Given the description of an element on the screen output the (x, y) to click on. 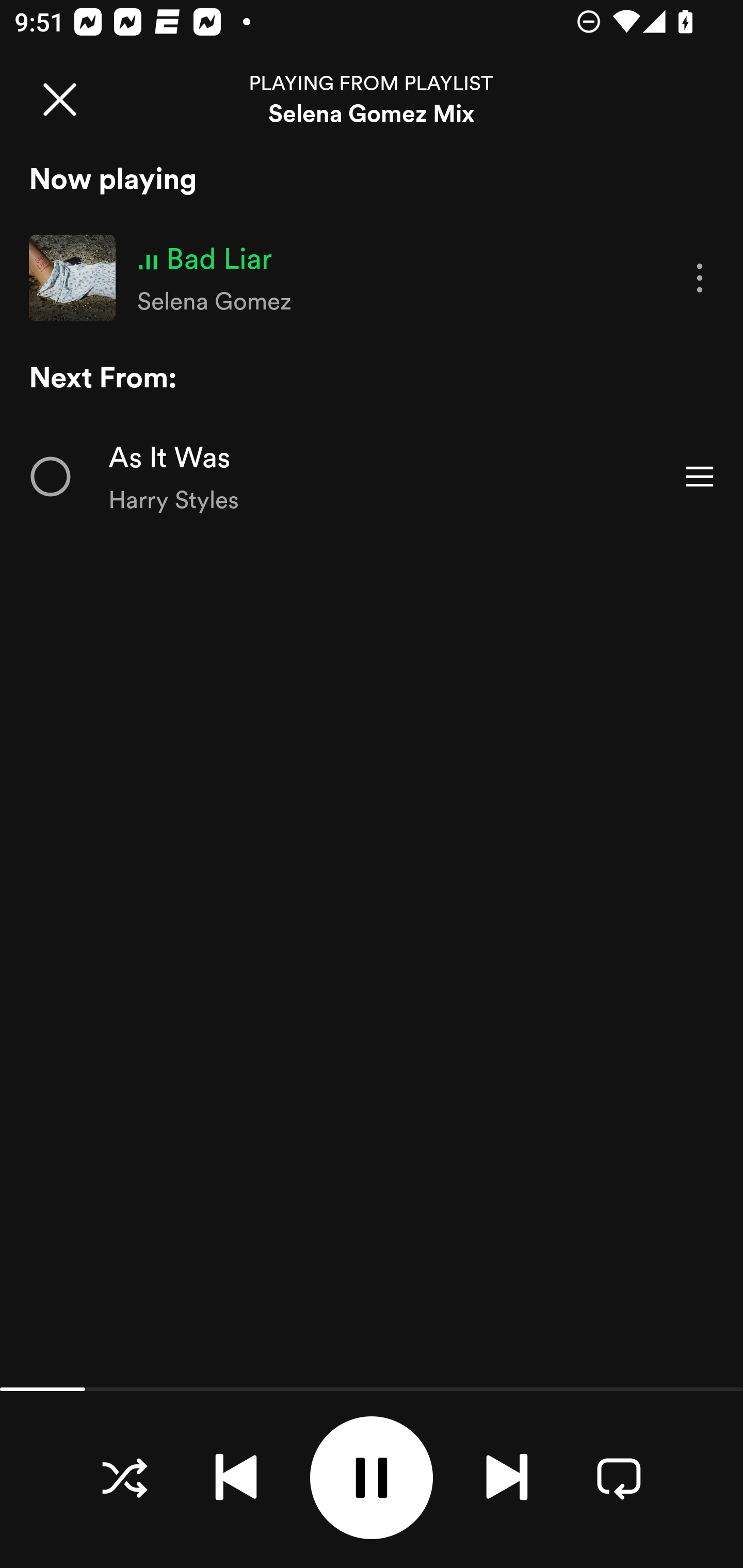
Close (59, 99)
PLAYING FROM PLAYLIST Selena Gomez Mix (371, 99)
More options for song Bad Liar (699, 278)
As It Was Harry Styles Reorder track (371, 476)
Pause (371, 1477)
Previous (235, 1477)
Next (507, 1477)
Choose a Listening Mode (123, 1477)
Repeat (618, 1477)
